Given the description of an element on the screen output the (x, y) to click on. 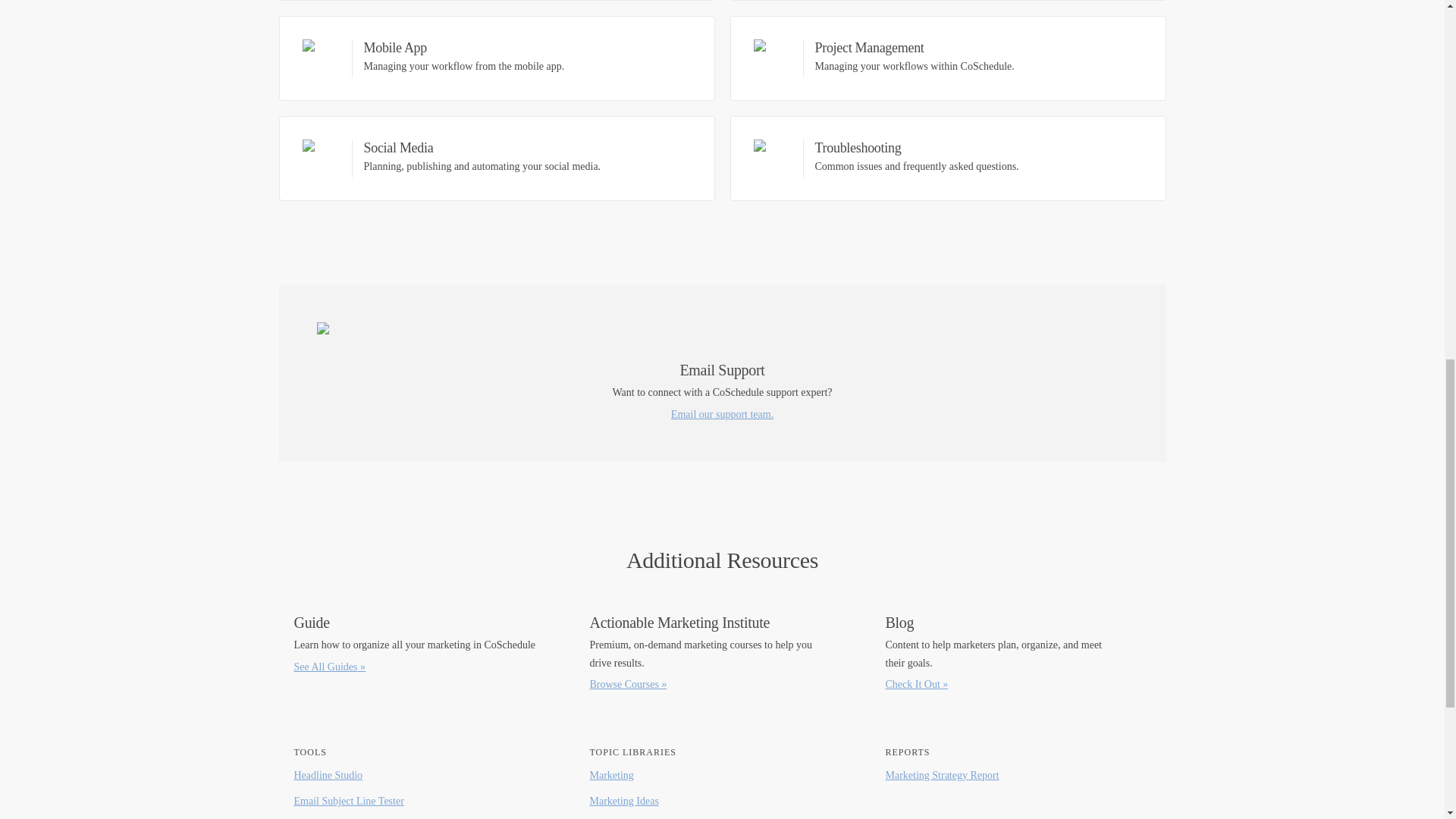
See all Actionable Marketing Institute Courses (722, 653)
Marketing Ideas (496, 57)
Try Headline Studio (624, 801)
Try the Social Message Optimizer (328, 775)
Email Support (350, 816)
Visit the CoSchedule Blog (722, 372)
Social Message Optimizer (1018, 653)
See all CoSchedule Guides (350, 816)
Go to the Marketing Strategy Hub (427, 653)
Go to the Marketing Hub (630, 816)
Email Subject Line Tester (611, 775)
